Given the description of an element on the screen output the (x, y) to click on. 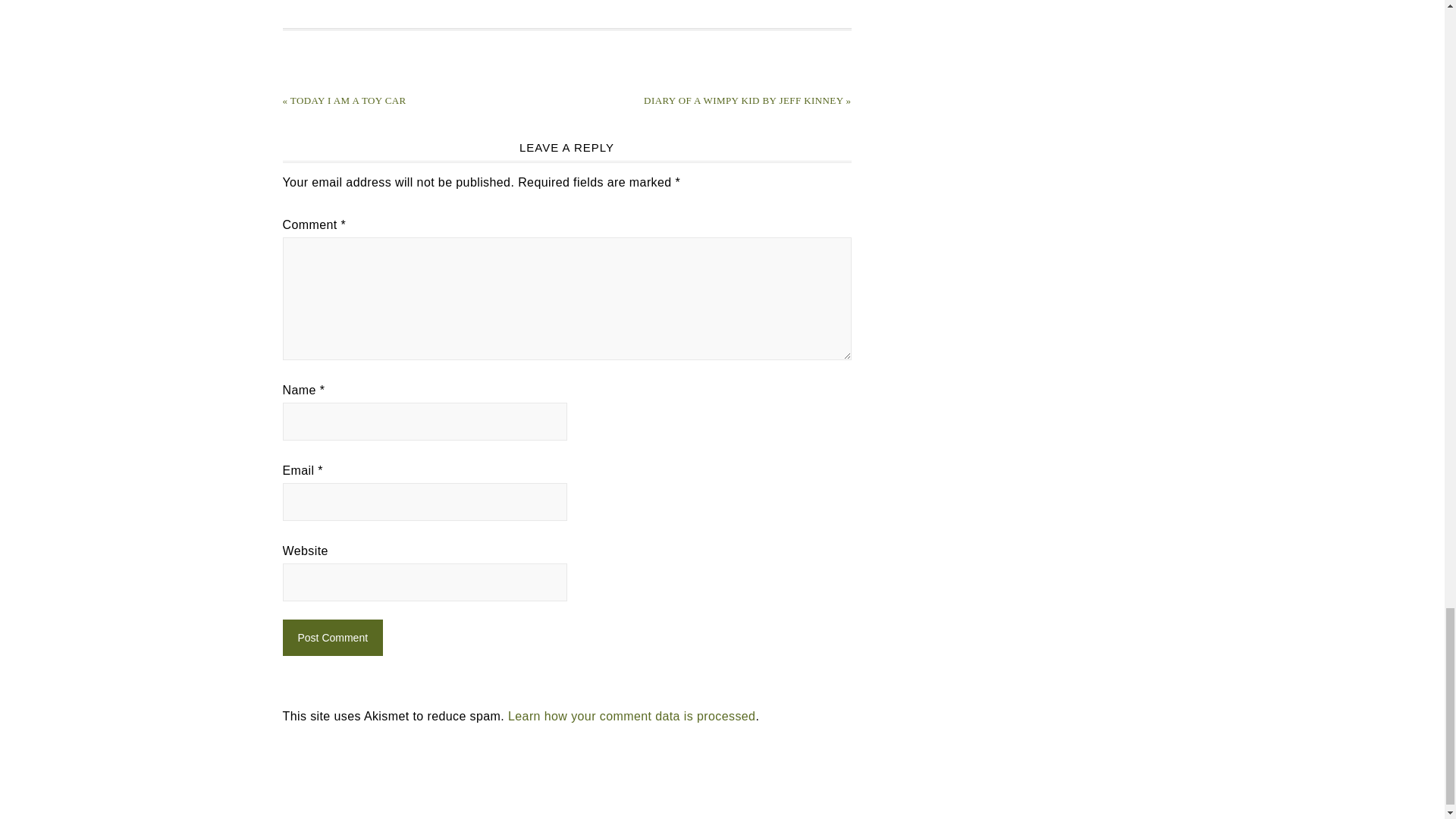
Post Comment (332, 637)
Post Comment (332, 637)
Learn how your comment data is processed (631, 716)
